Given the description of an element on the screen output the (x, y) to click on. 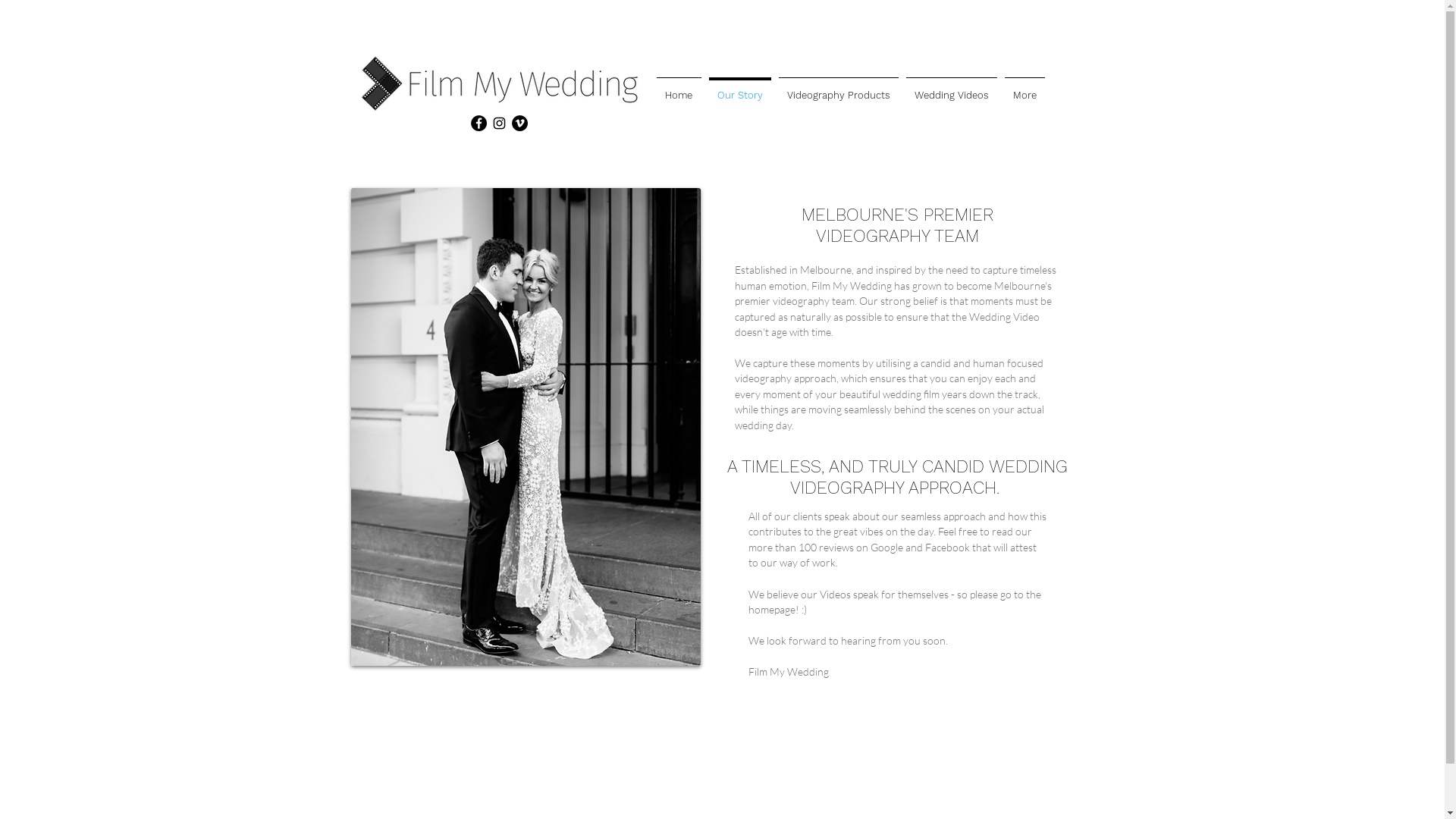
Home Element type: text (678, 88)
Wedding Videos Element type: text (951, 88)
Our Story Element type: text (740, 88)
Videography Products Element type: text (838, 88)
